Given the description of an element on the screen output the (x, y) to click on. 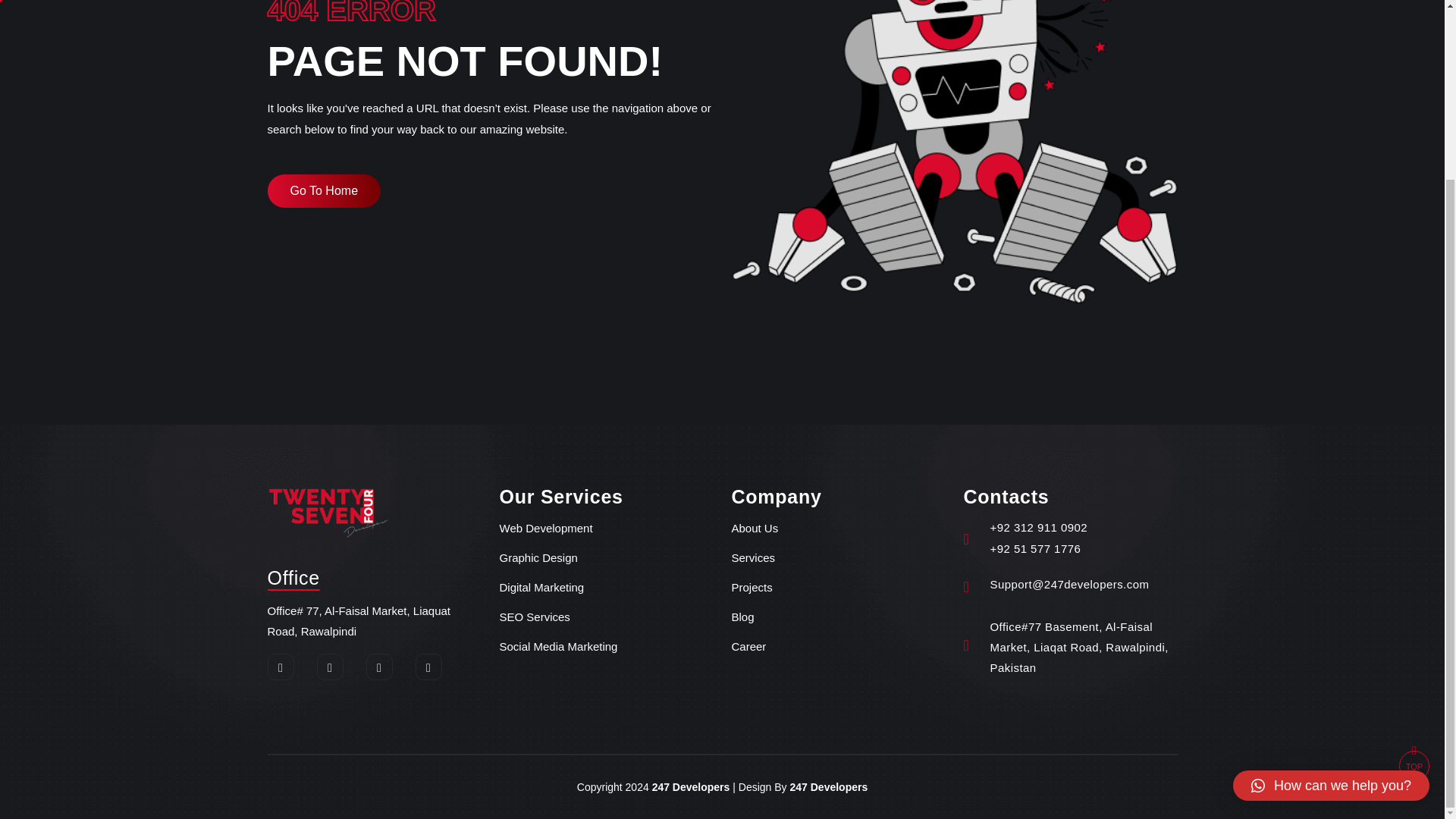
Projects (750, 588)
Services (752, 558)
Go To Home (323, 191)
About Us (753, 528)
Graphic Design (537, 558)
Career (747, 647)
Blog (742, 617)
Social Media Marketing (558, 647)
TOP (1414, 545)
Digital Marketing (541, 588)
SEO Services (534, 617)
Web Development (545, 528)
